Given the description of an element on the screen output the (x, y) to click on. 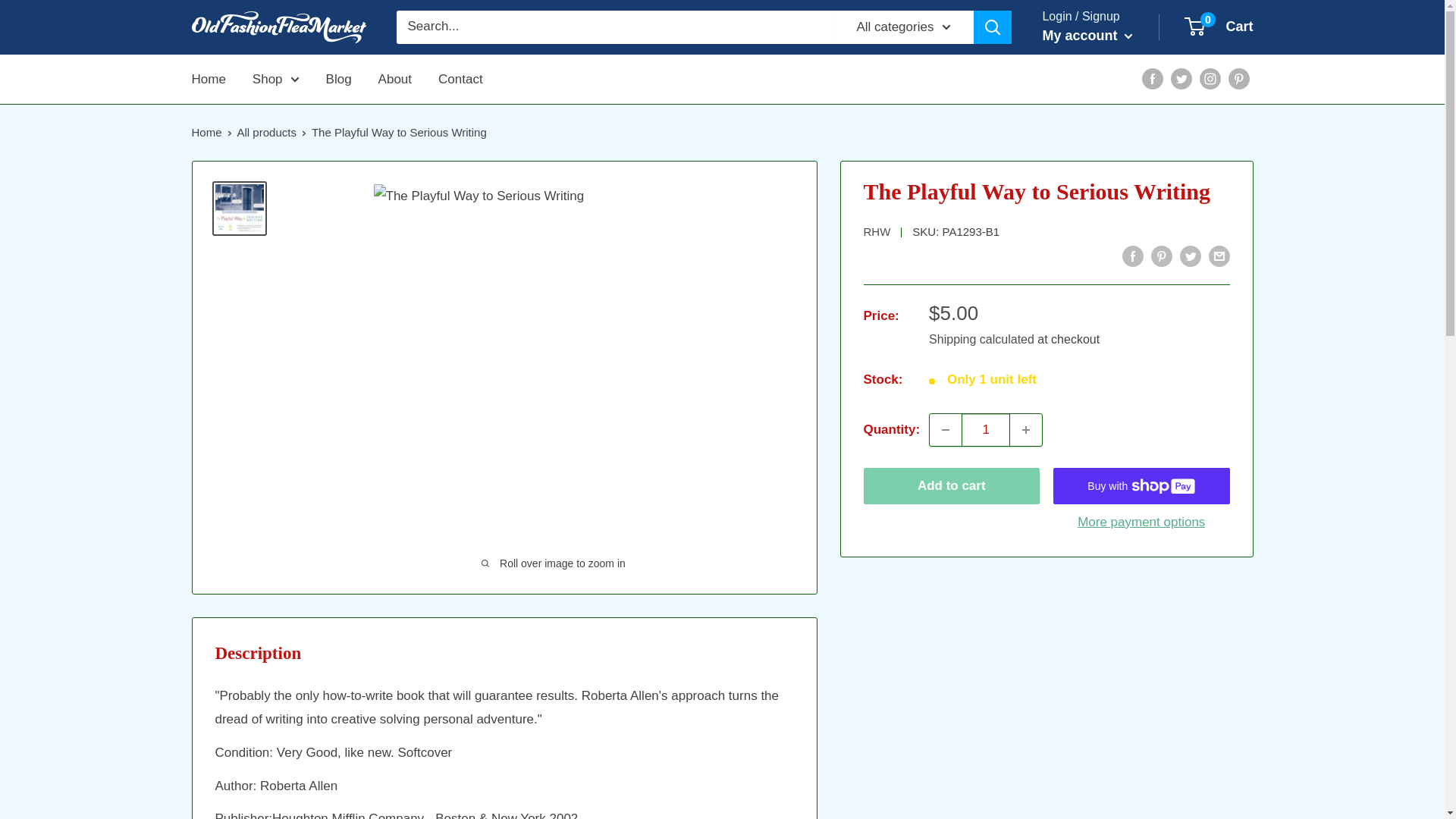
Increase quantity by 1 (1026, 429)
Decrease quantity by 1 (945, 429)
1 (985, 429)
